Given the description of an element on the screen output the (x, y) to click on. 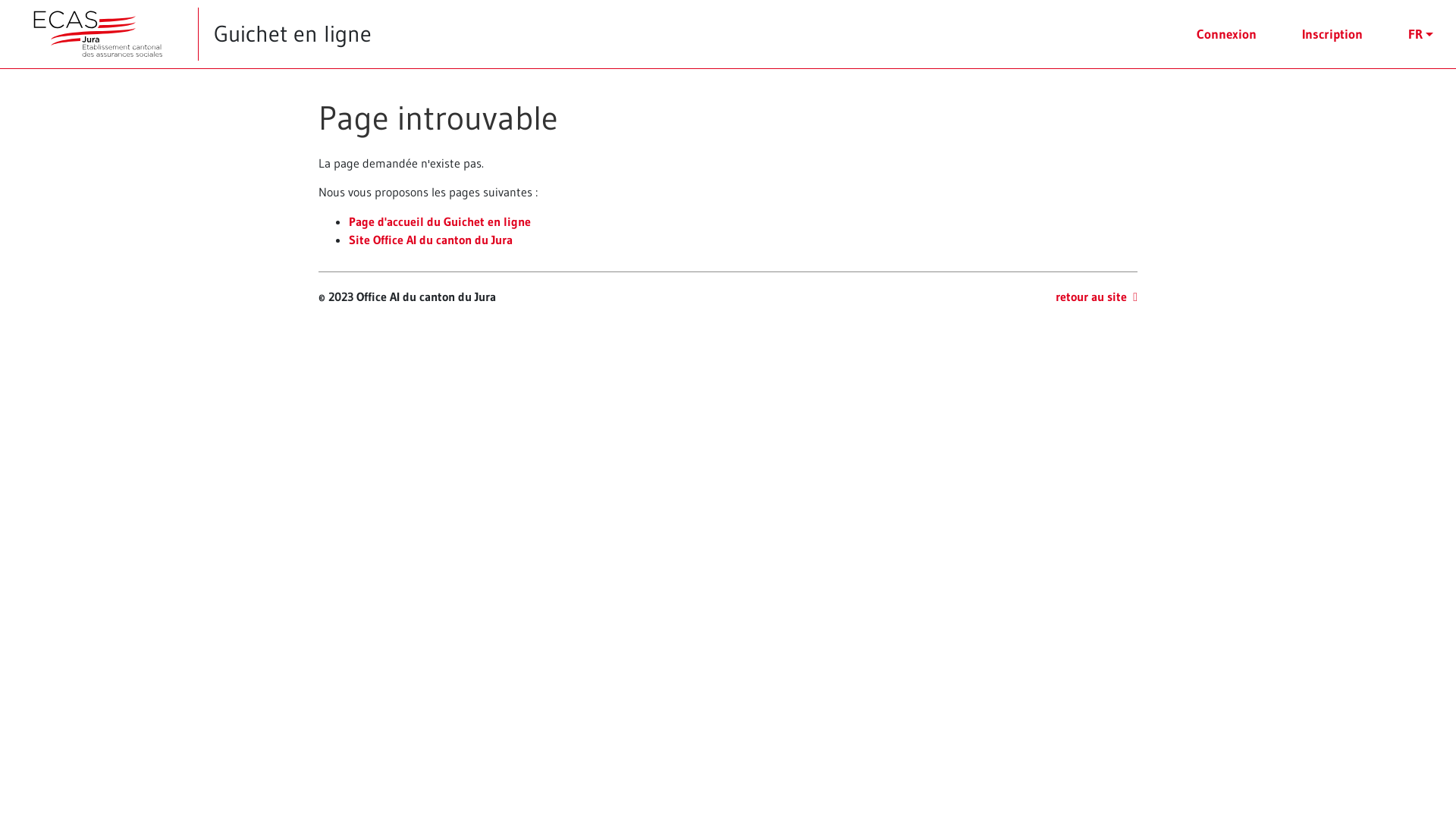
Site Office AI du canton du Jura Element type: text (430, 239)
Inscription Element type: text (1332, 34)
Connexion Element type: text (1226, 34)
retour au site Element type: text (1096, 296)
Page d'accueil du Guichet en ligne Element type: text (439, 221)
